Given the description of an element on the screen output the (x, y) to click on. 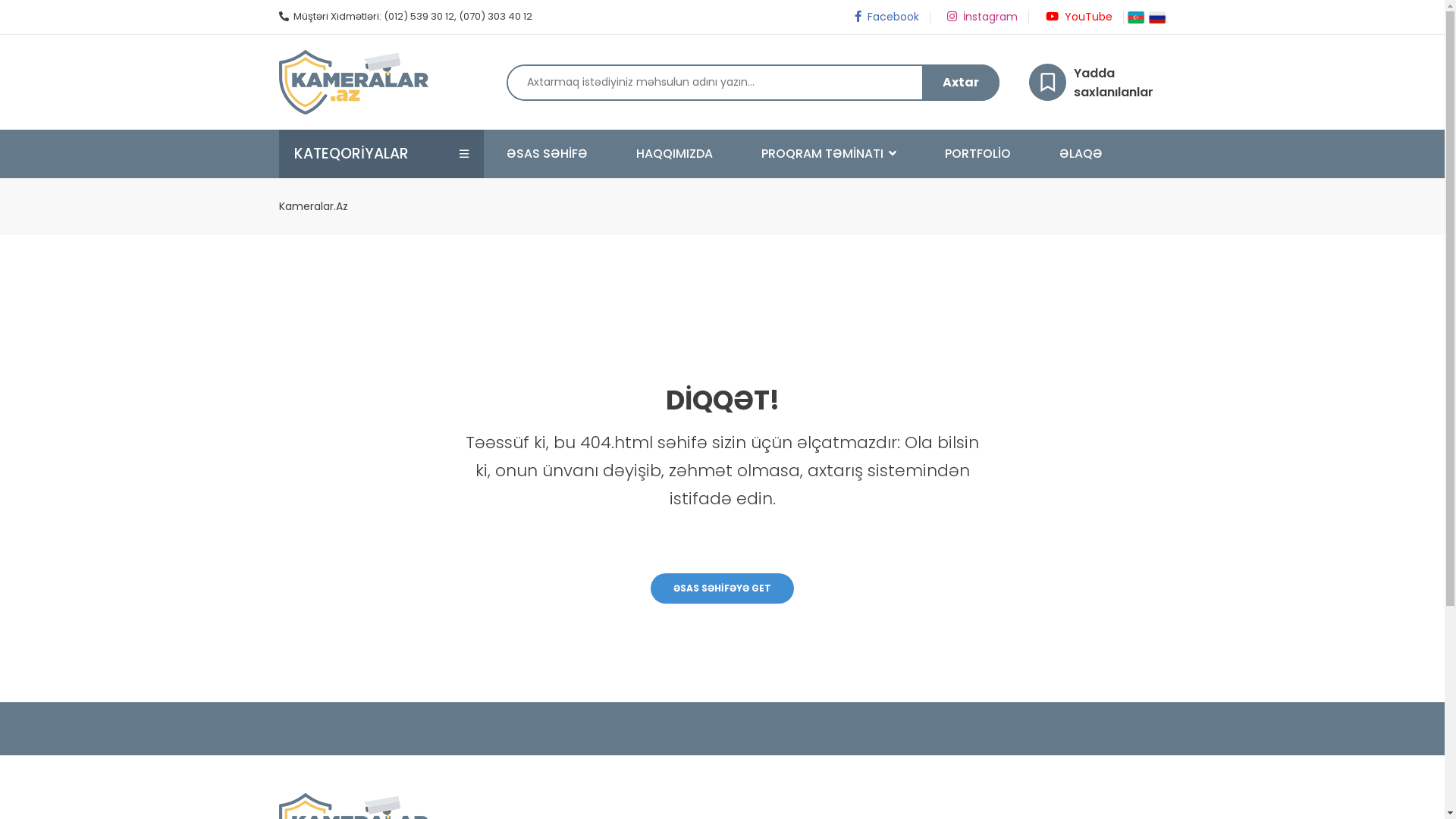
Kameralar.Az Element type: text (313, 206)
  Facebook Element type: text (885, 17)
KATEQORIYALAR Element type: text (351, 153)
PORTFOLIO Element type: text (1000, 153)
HAQQIMIZDA Element type: text (696, 153)
  YouTube Element type: text (1077, 17)
Axtar Element type: text (960, 81)
